Given the description of an element on the screen output the (x, y) to click on. 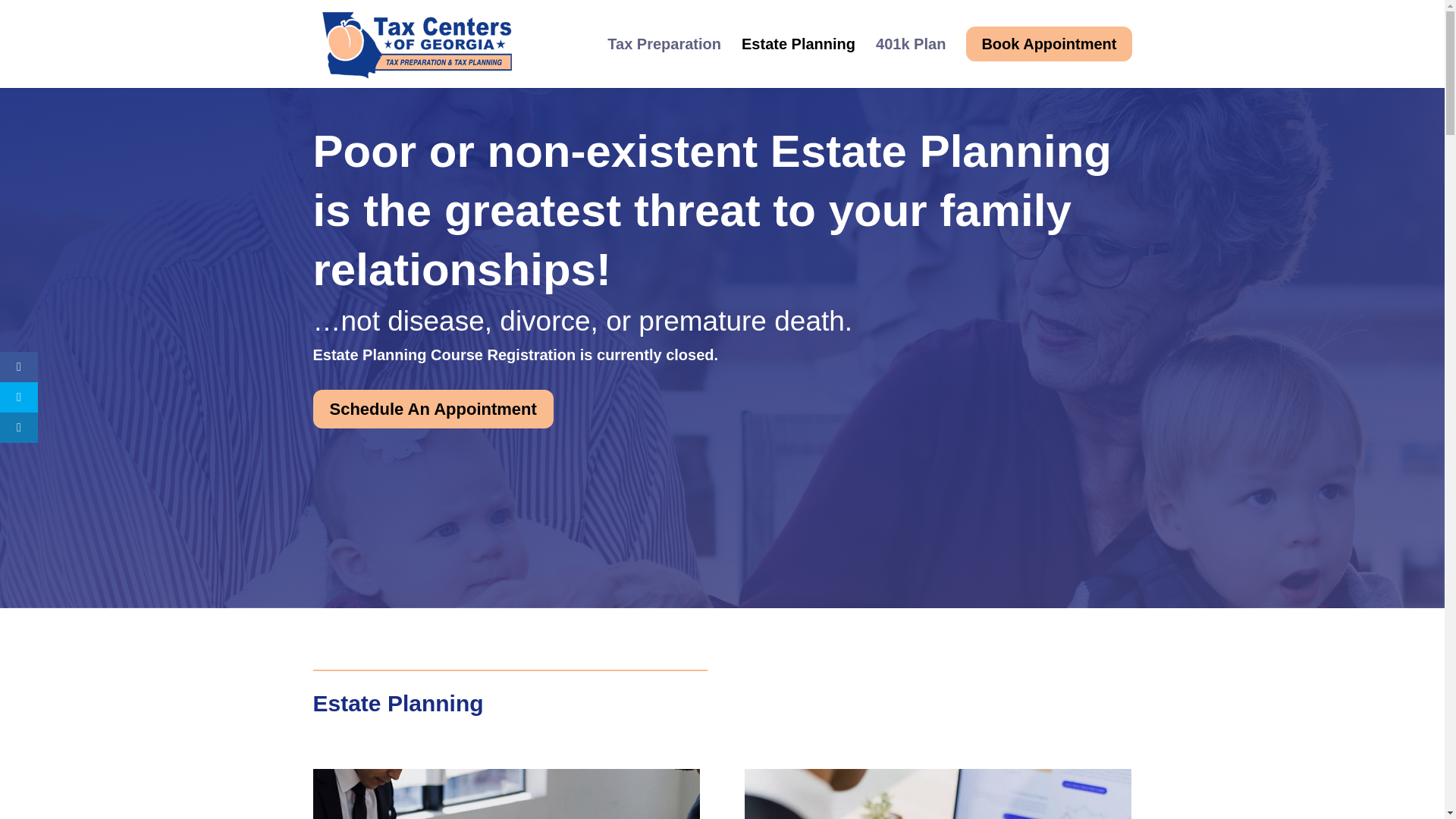
401k Plan (910, 57)
Estate Planning (798, 57)
Accountant-Image-35 (937, 794)
Accountant-Image-36 (505, 794)
Tax Preparation (663, 57)
Book Appointment (1048, 56)
Schedule An Appointment (433, 408)
